Given the description of an element on the screen output the (x, y) to click on. 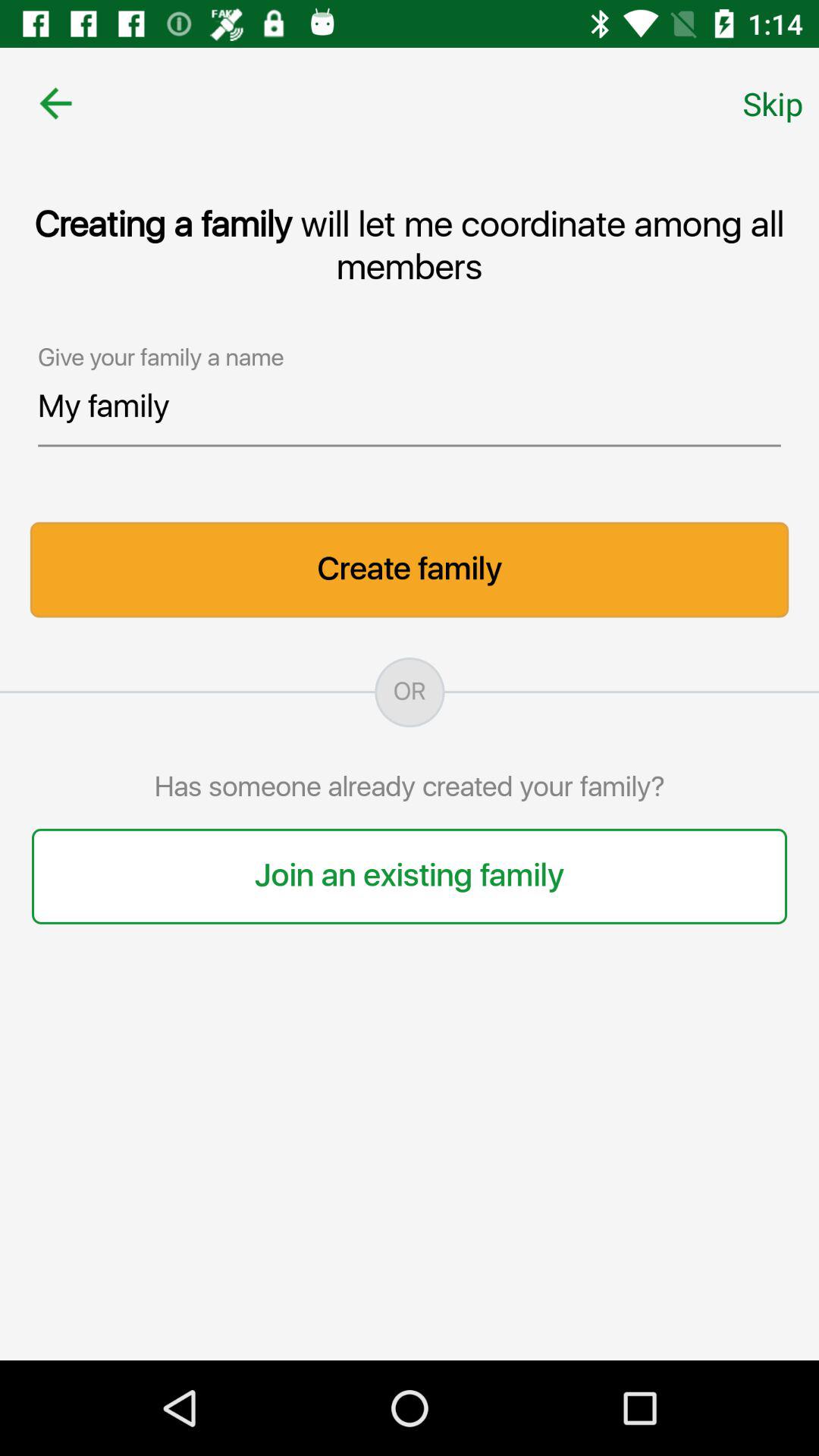
select the icon at the top right corner (772, 103)
